Given the description of an element on the screen output the (x, y) to click on. 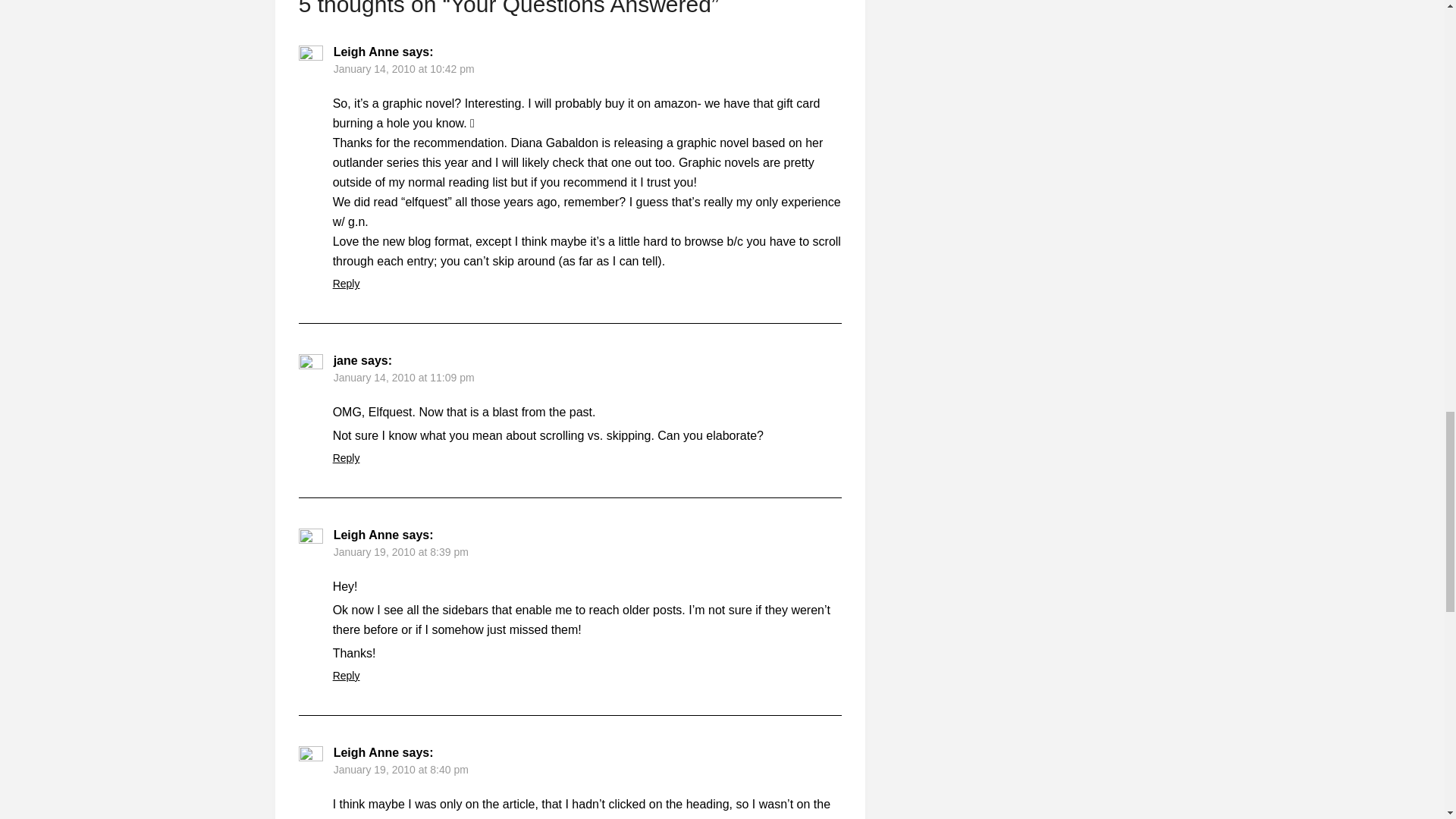
January 14, 2010 at 11:09 pm (403, 377)
January 19, 2010 at 8:40 pm (400, 769)
Reply (346, 458)
January 19, 2010 at 8:39 pm (400, 551)
Reply (346, 675)
Reply (346, 283)
January 14, 2010 at 10:42 pm (403, 69)
